Given the description of an element on the screen output the (x, y) to click on. 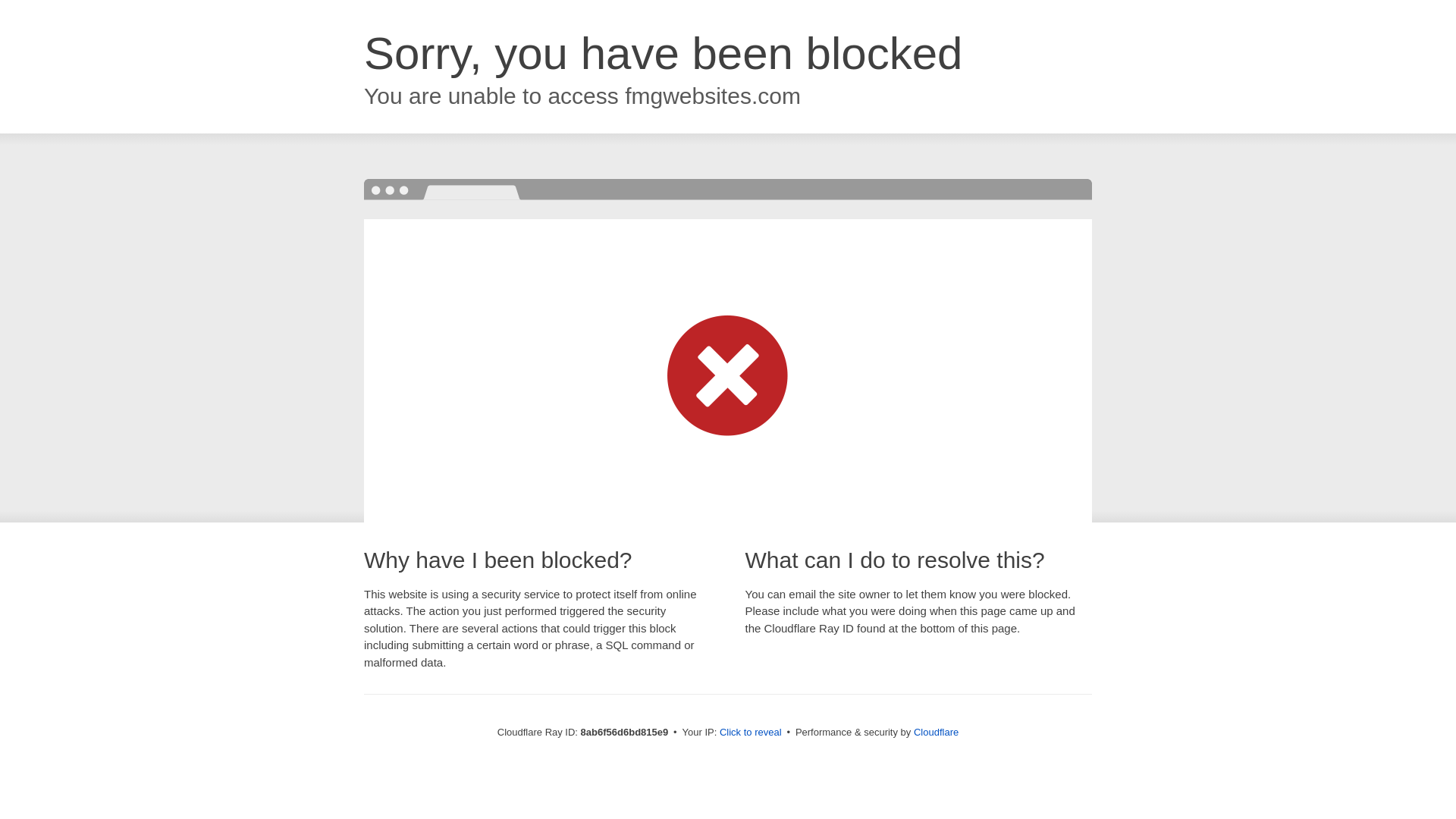
Cloudflare (936, 731)
Click to reveal (750, 732)
